Given the description of an element on the screen output the (x, y) to click on. 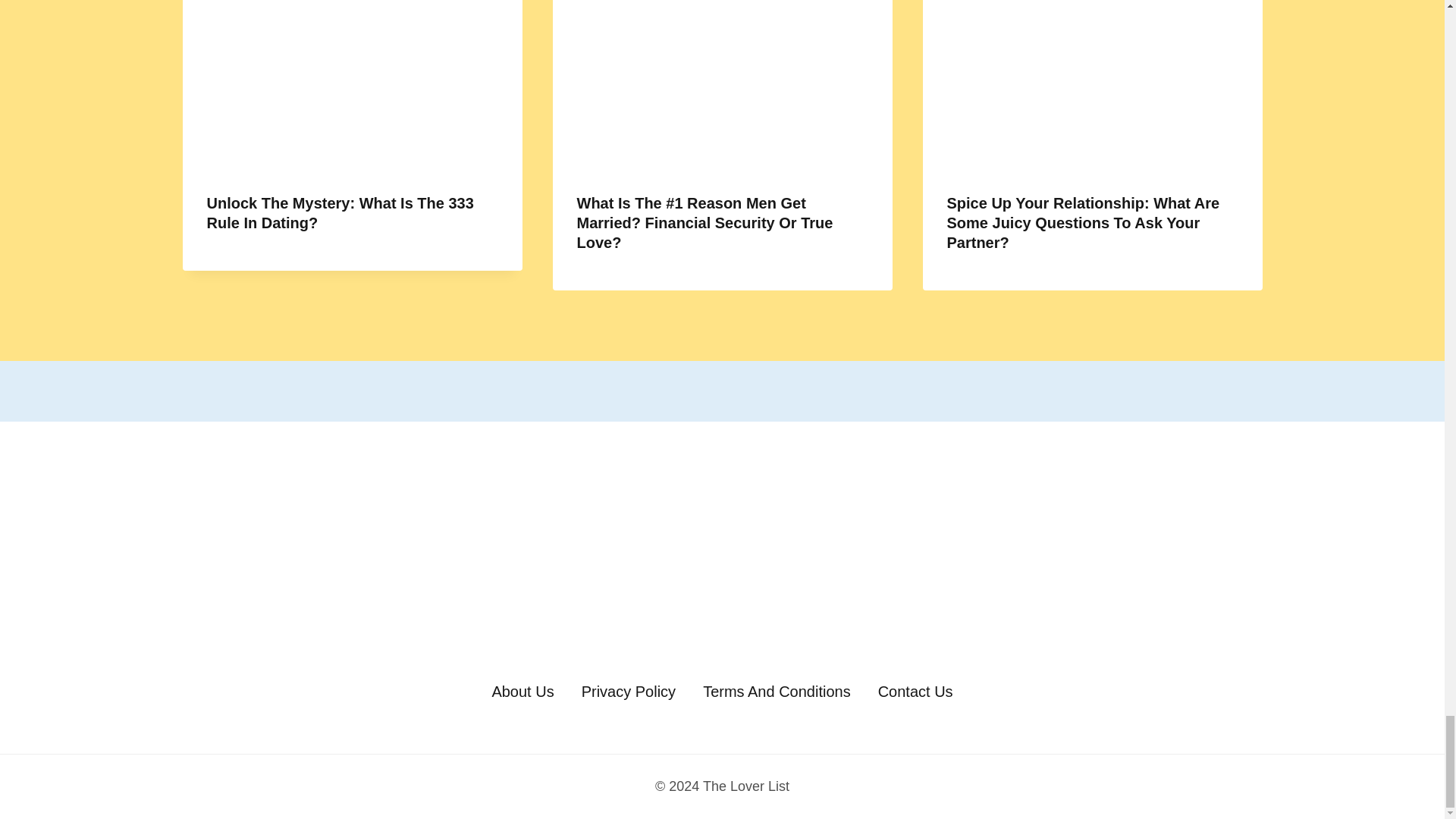
Unlock The Mystery: What Is The 333 Rule In Dating? (339, 212)
